Given the description of an element on the screen output the (x, y) to click on. 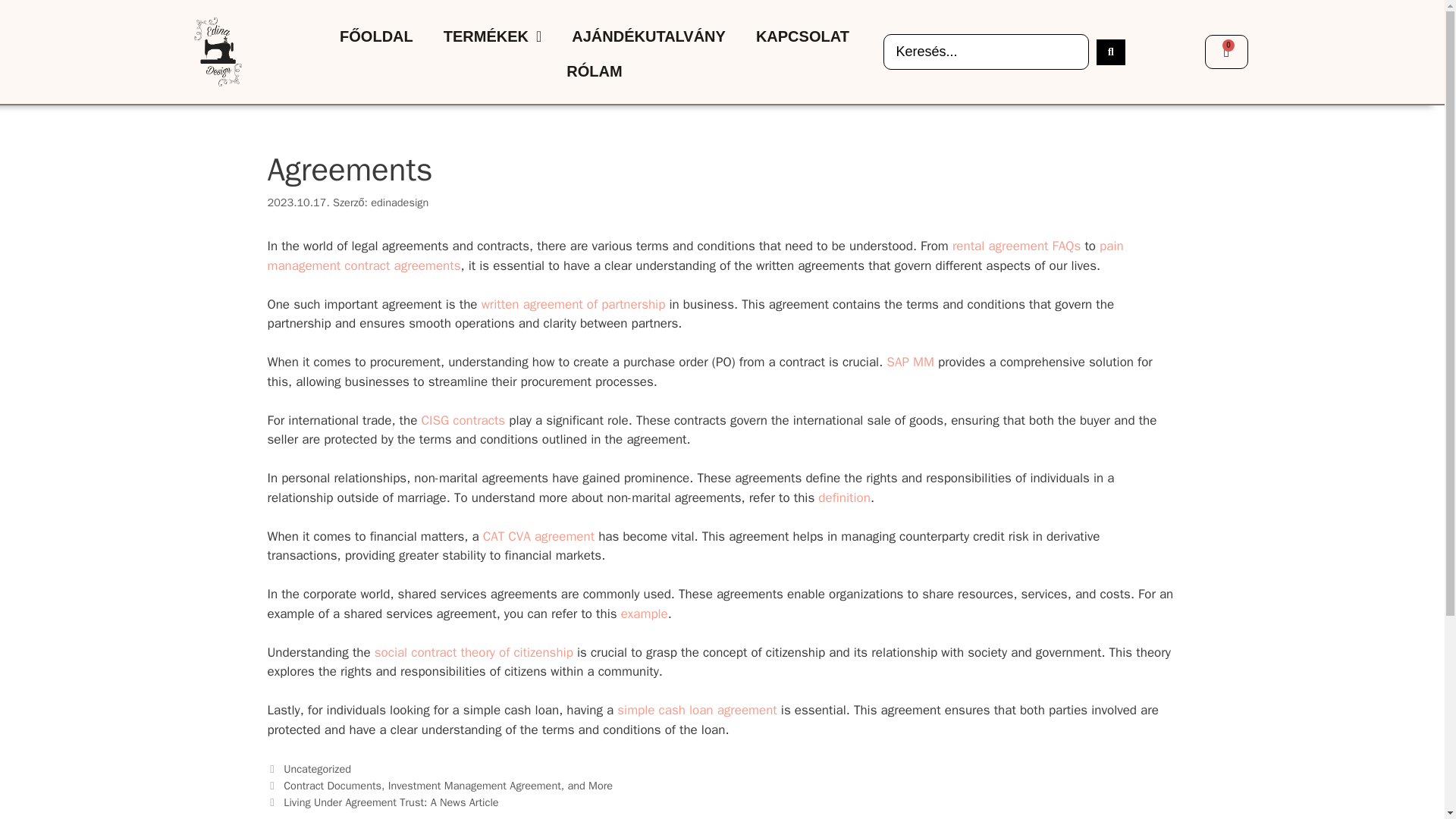
pain management contract agreements (694, 255)
example (644, 613)
Uncategorized (316, 768)
rental agreement FAQs (1016, 245)
KAPCSOLAT (802, 36)
simple cash loan agreement (697, 709)
CAT CVA agreement (538, 536)
definition (844, 497)
CISG contracts (462, 420)
social contract theory of citizenship (473, 652)
SAP MM (910, 361)
edinadesign (399, 202)
written agreement of partnership (573, 304)
Living Under Agreement Trust: A News Article (390, 802)
